Given the description of an element on the screen output the (x, y) to click on. 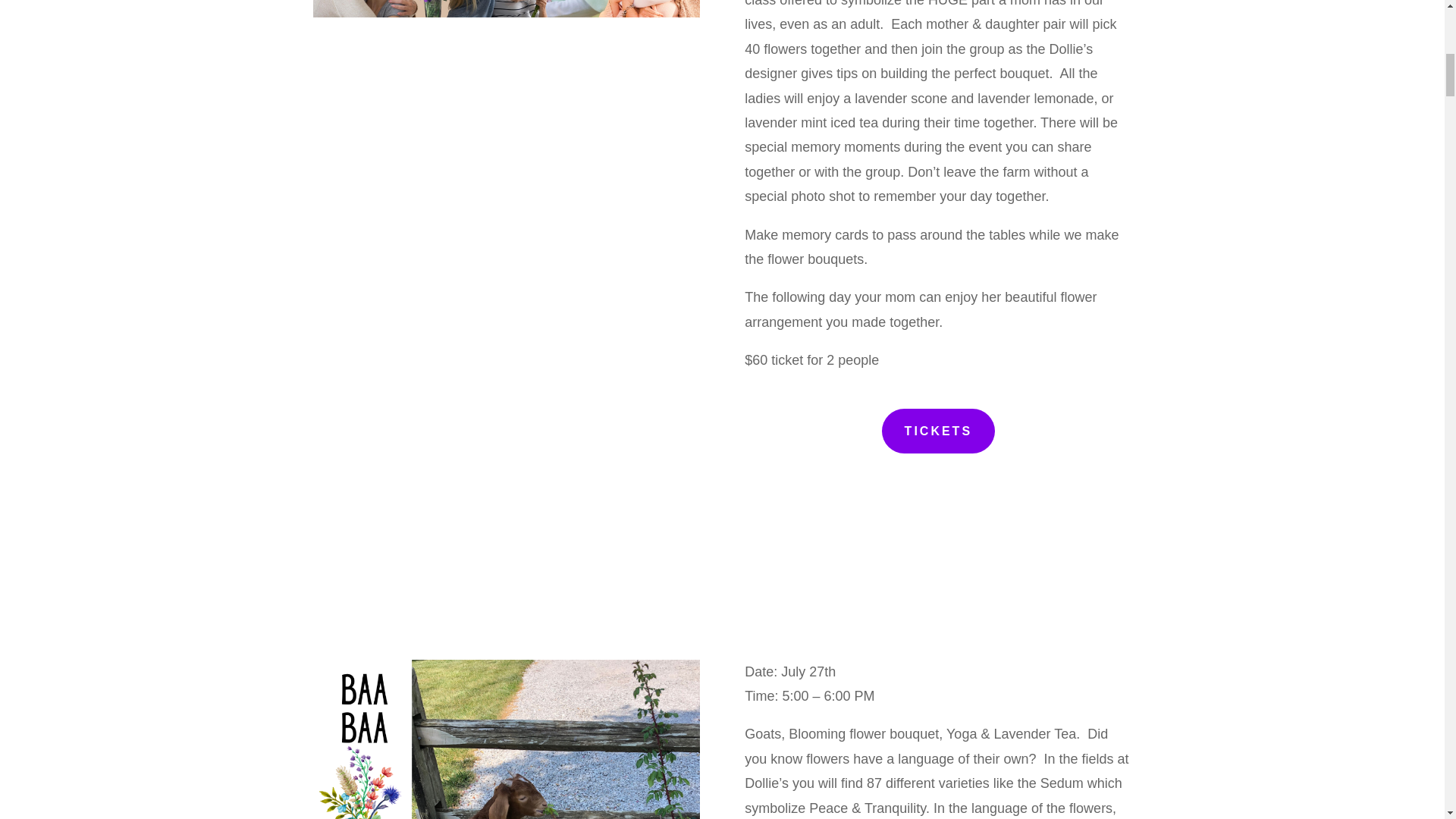
Moments with Mom (505, 8)
TICKETS (938, 430)
Baa Baa Blooms (505, 739)
